Given the description of an element on the screen output the (x, y) to click on. 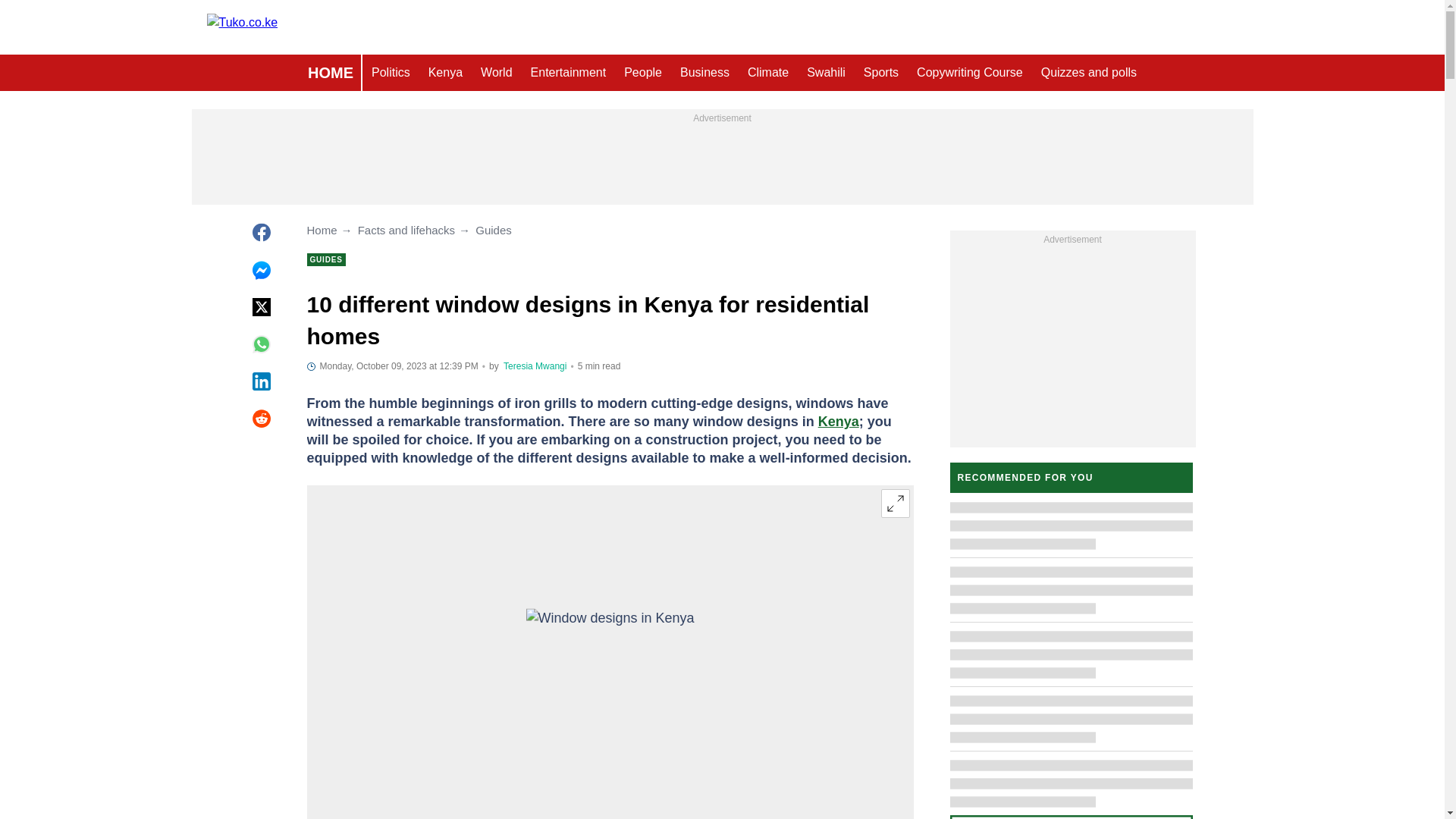
Swahili (825, 72)
Quizzes and polls (1088, 72)
World (496, 72)
Entertainment (568, 72)
Kenya (445, 72)
Copywriting Course (969, 72)
Climate (767, 72)
People (642, 72)
HOME (330, 72)
Expand image (895, 502)
Business (704, 72)
Window designs in Kenya (609, 655)
Politics (390, 72)
Sports (880, 72)
Author page (534, 366)
